Given the description of an element on the screen output the (x, y) to click on. 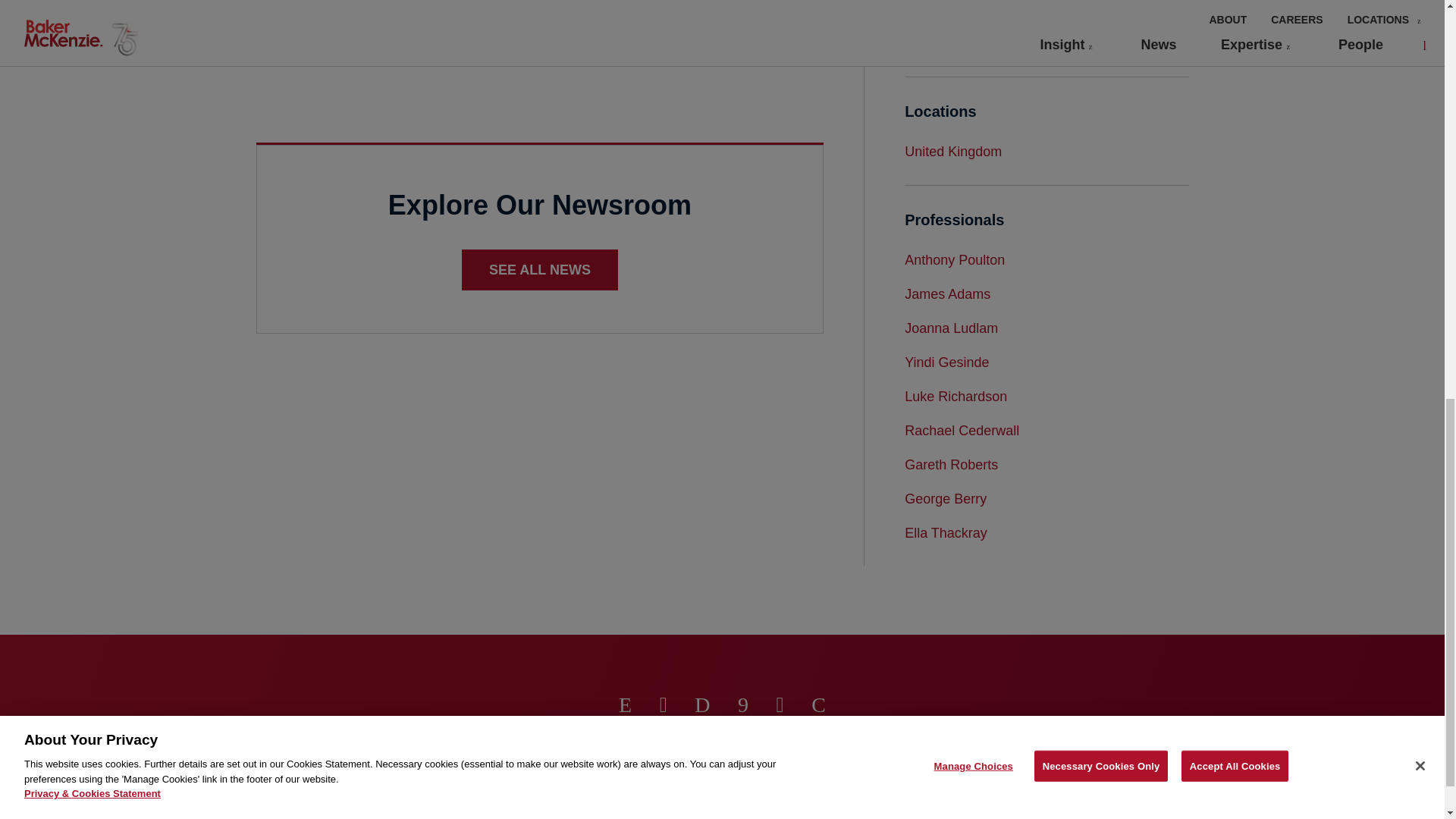
Manage Choices (596, 766)
